Given the description of an element on the screen output the (x, y) to click on. 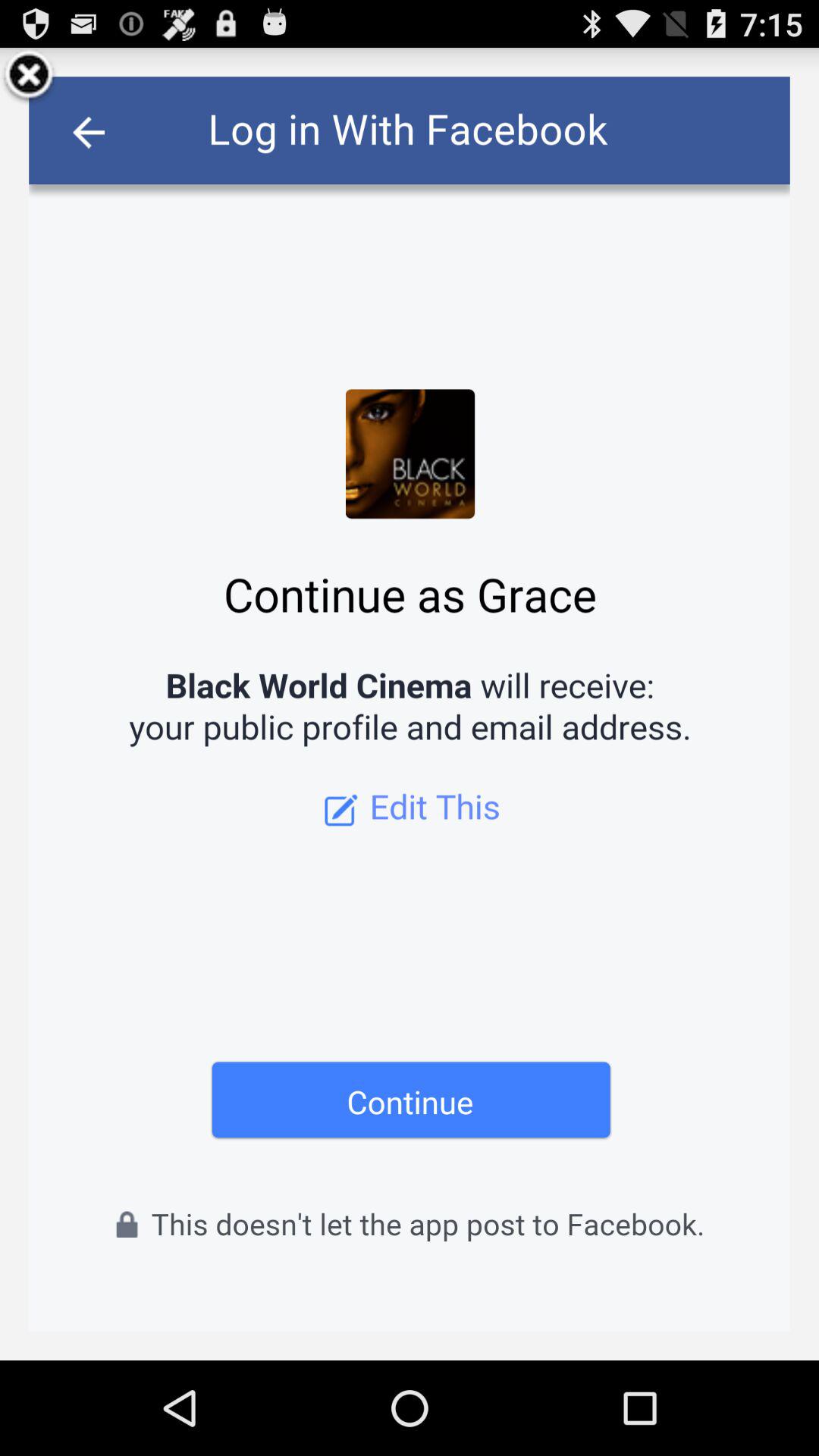
go to continue (409, 703)
